Given the description of an element on the screen output the (x, y) to click on. 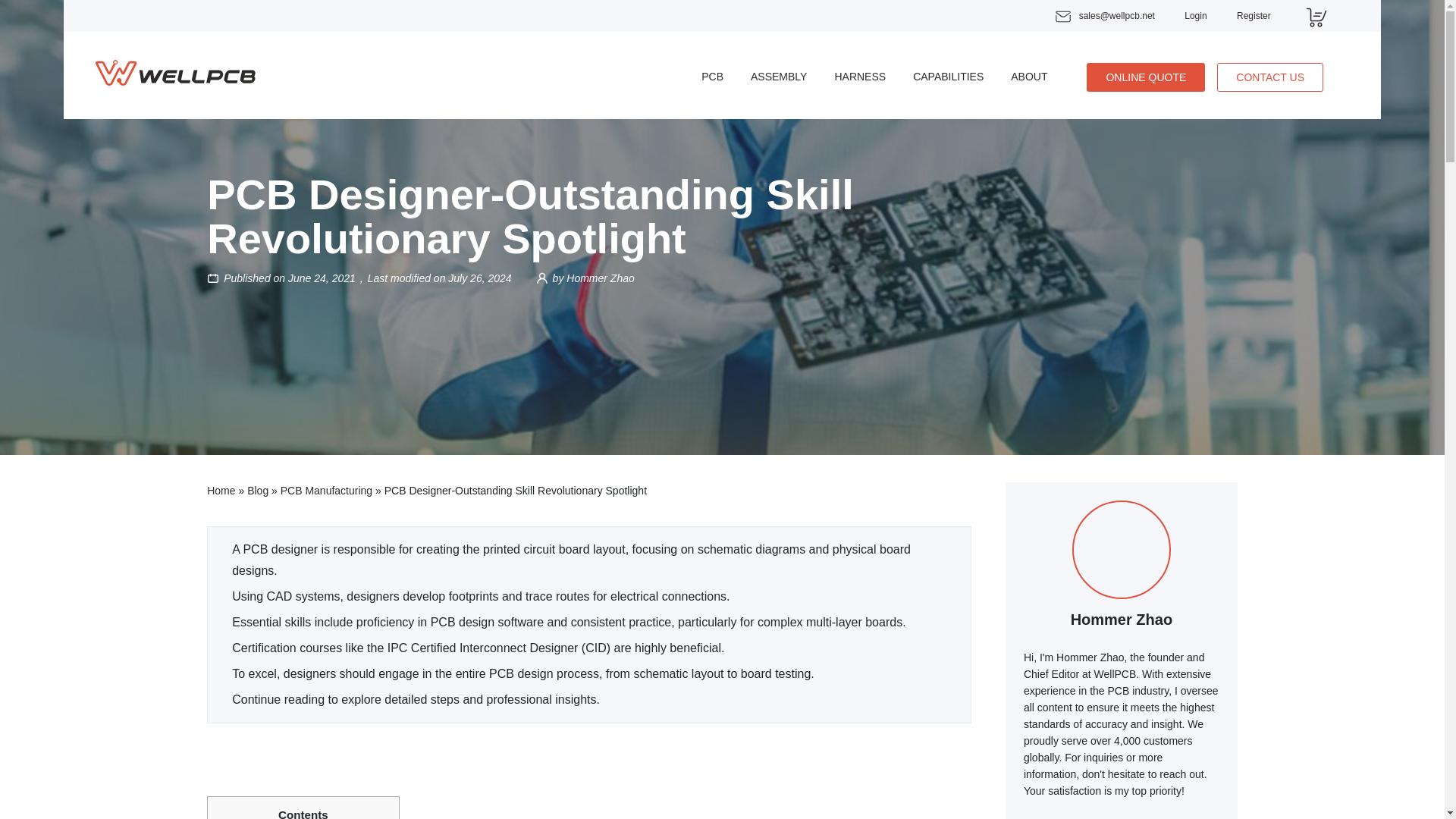
Register (1253, 15)
CAPABILITIES (948, 76)
ONLINE QUOTE (1145, 77)
PCB (712, 76)
ABOUT (1028, 76)
ASSEMBLY (778, 76)
HARNESS (859, 76)
CONTACT US (1270, 77)
